Given the description of an element on the screen output the (x, y) to click on. 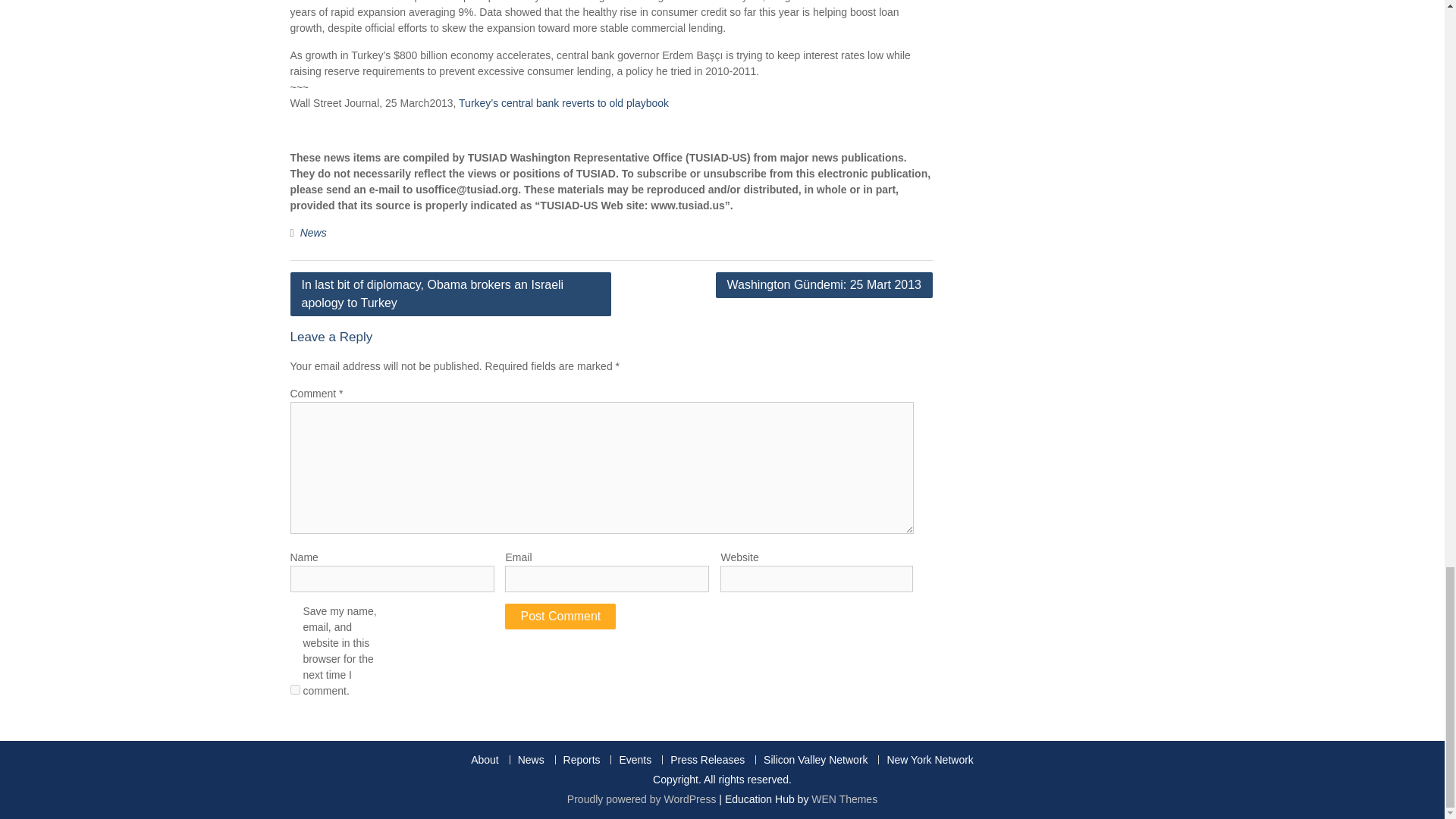
Post Comment (560, 616)
Post Comment (560, 616)
yes (294, 688)
News (312, 232)
